Given the description of an element on the screen output the (x, y) to click on. 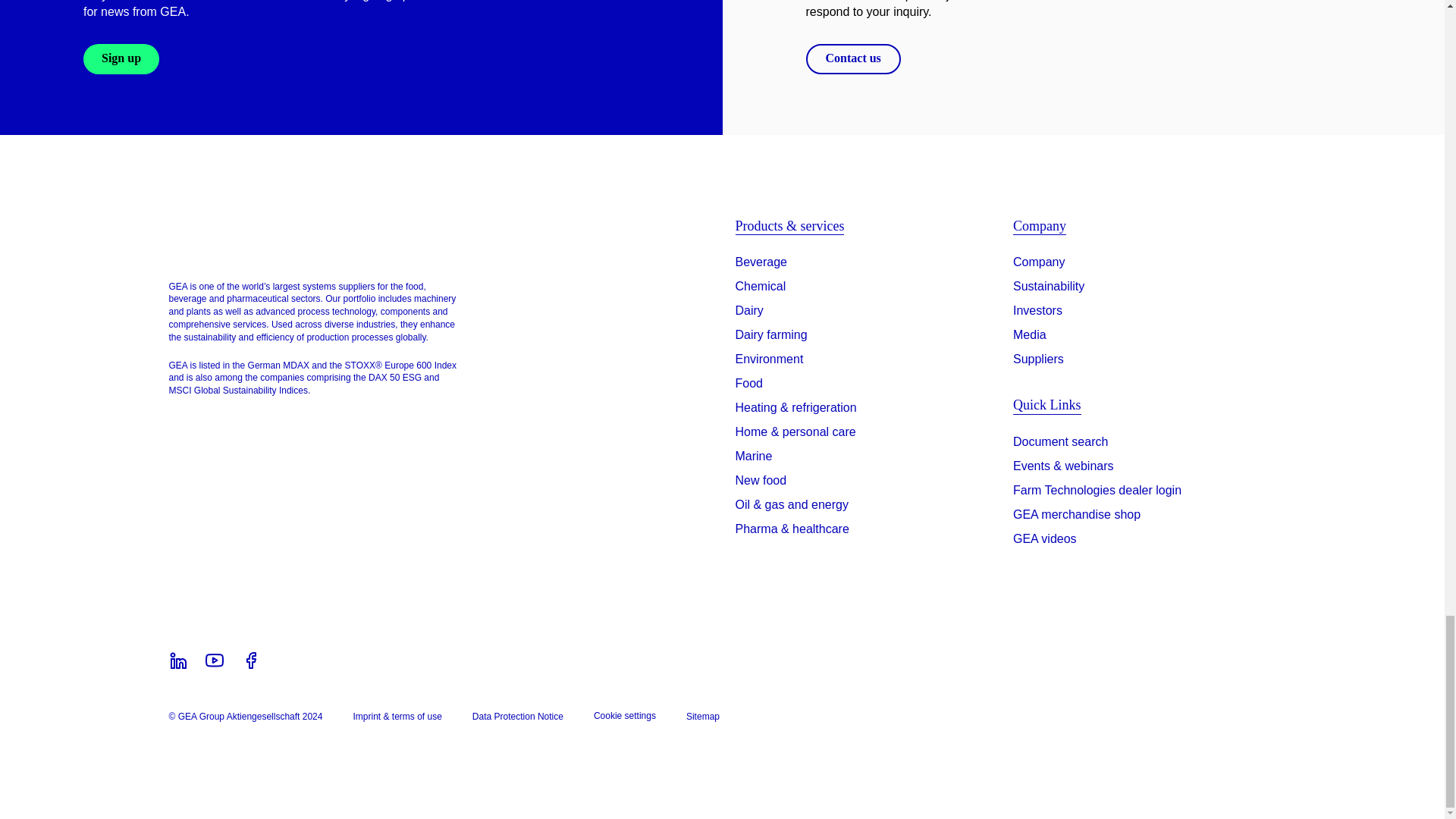
Media (1029, 334)
Suppliers (1038, 359)
Events (1063, 469)
Investors (1037, 311)
Company (1038, 262)
Search (1060, 445)
Sustainability (1048, 286)
